Given the description of an element on the screen output the (x, y) to click on. 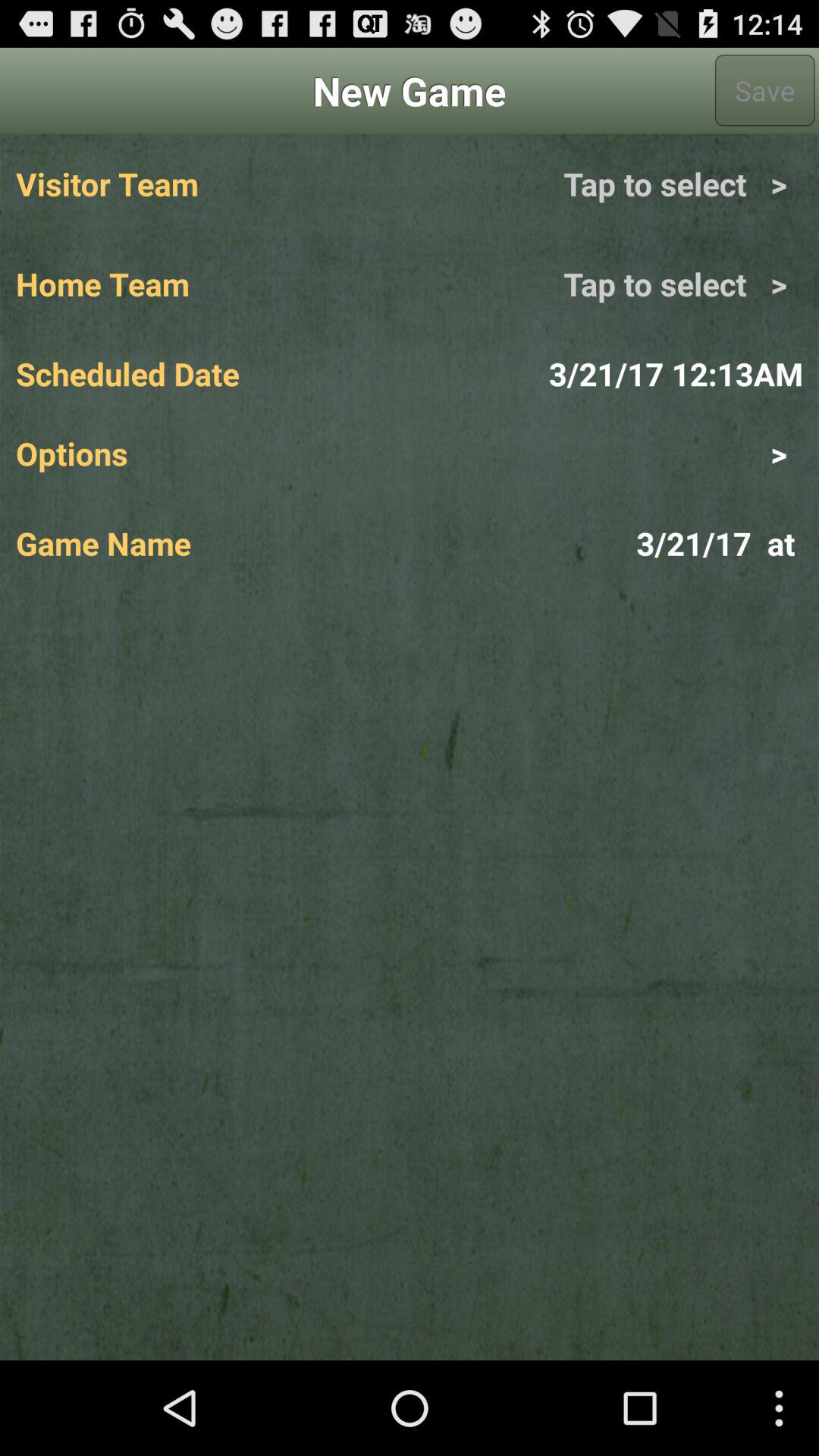
open item at the bottom (409, 976)
